Given the description of an element on the screen output the (x, y) to click on. 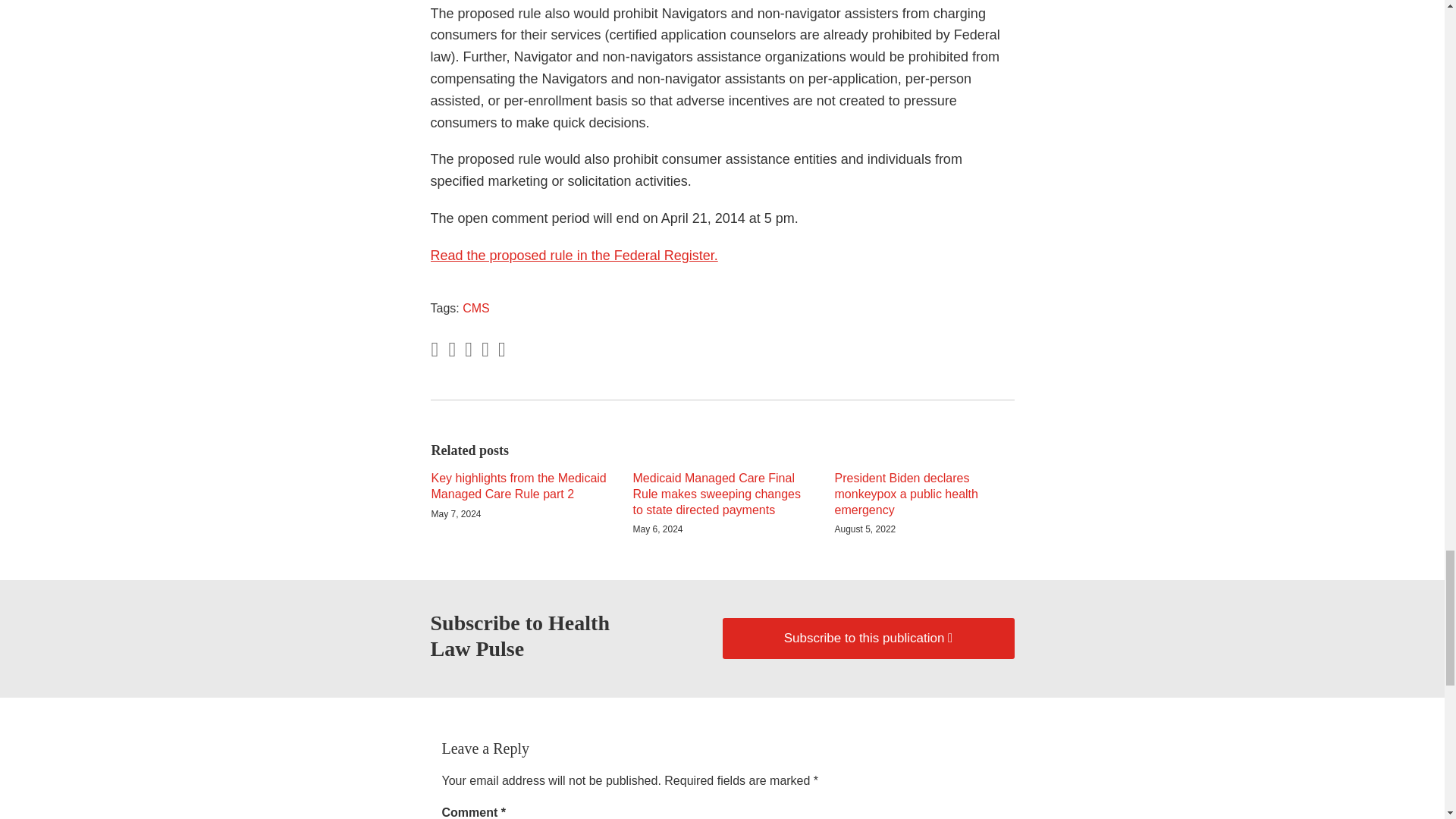
Subscribe to this publication (867, 638)
President Biden declares monkeypox a public health emergency (923, 493)
Key highlights from the Medicaid Managed Care Rule part 2 (520, 486)
Read the proposed rule in the Federal Register. (573, 255)
CMS (476, 308)
